Given the description of an element on the screen output the (x, y) to click on. 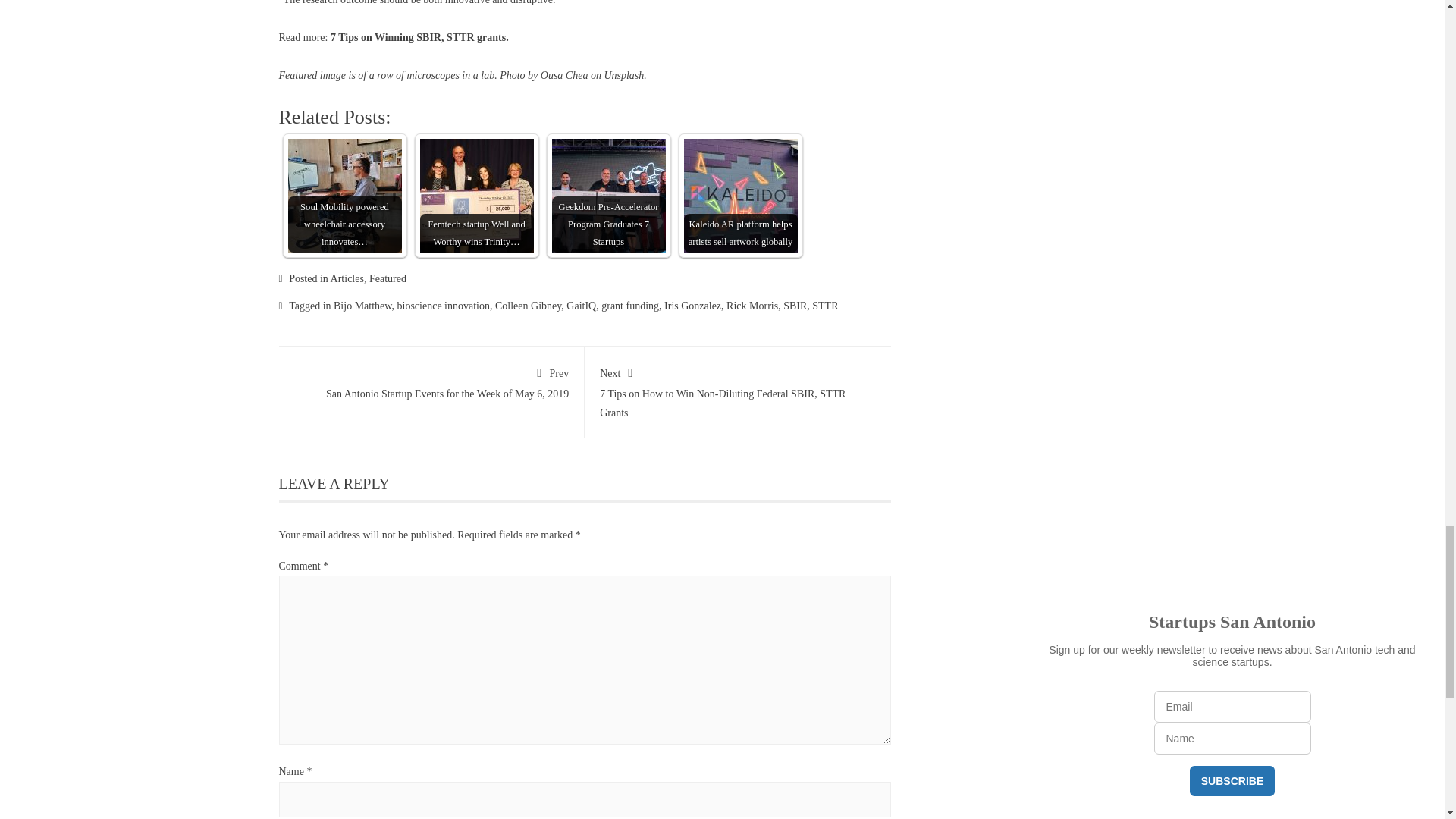
Bijo Matthew (362, 306)
Kaleido AR platform helps artists sell artwork globally (740, 195)
SBIR (794, 306)
bioscience innovation (443, 306)
Rick Morris (751, 306)
Kaleido AR platform helps artists sell artwork globally (740, 195)
Featured (387, 278)
grant funding (630, 306)
Geekdom Pre-Accelerator Program Graduates 7 Startups (608, 195)
7 Tips on Winning SBIR, STTR grants (417, 37)
Colleen Gibney (527, 306)
Articles (347, 278)
Iris Gonzalez (691, 306)
